Given the description of an element on the screen output the (x, y) to click on. 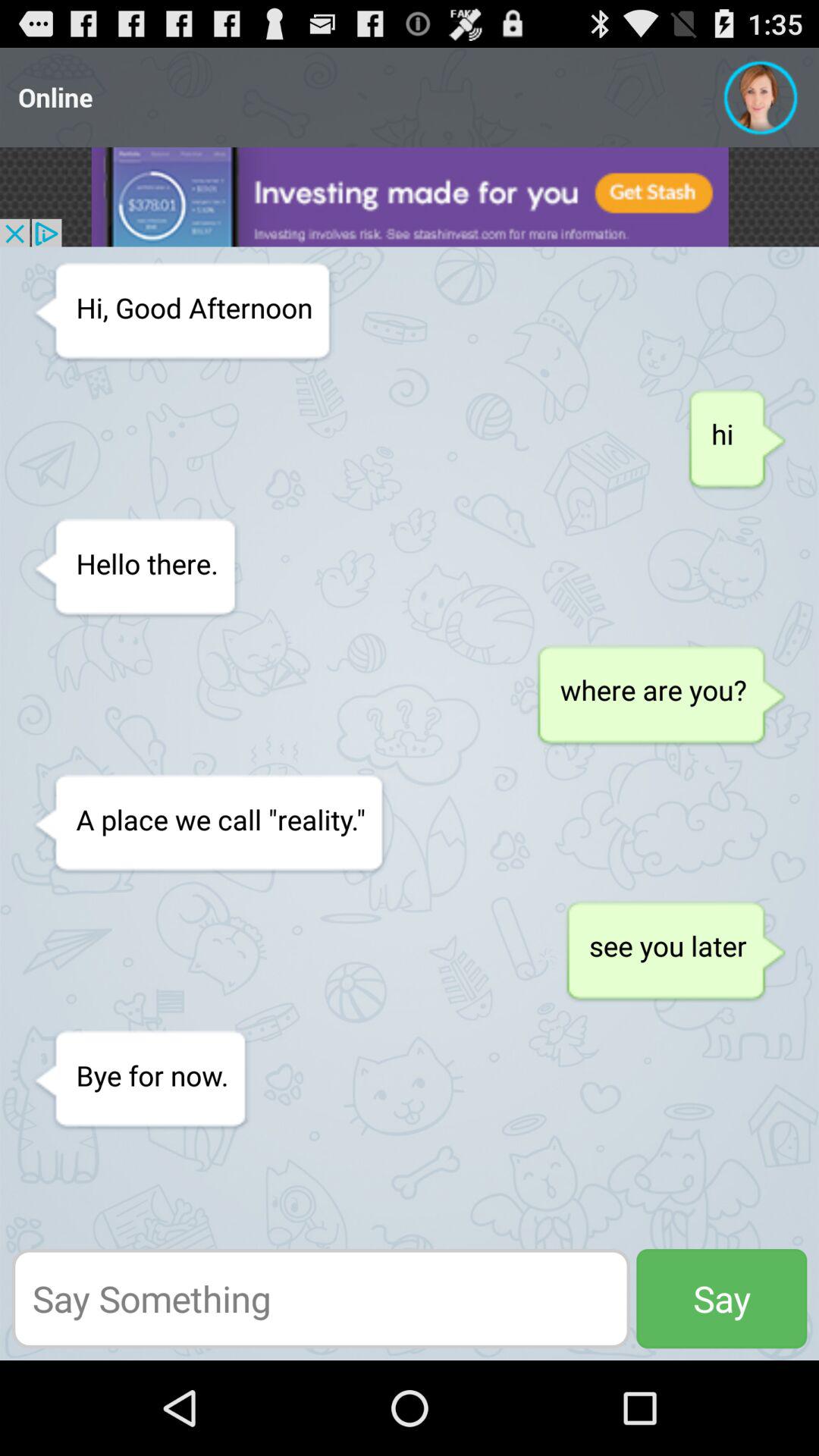
write a message (320, 1298)
